Given the description of an element on the screen output the (x, y) to click on. 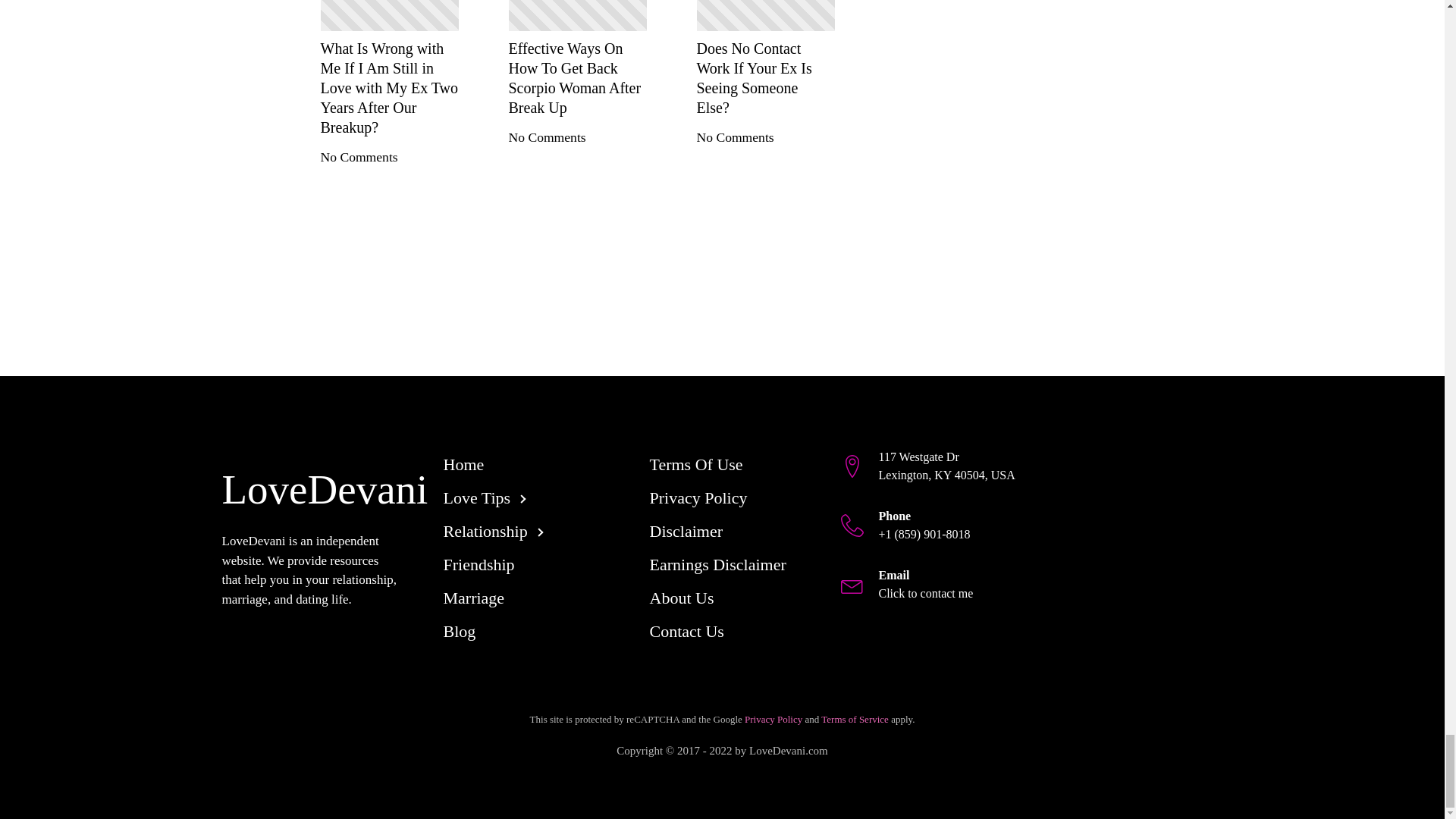
No Comments (546, 136)
No Comments (734, 136)
Does No Contact Work If Your Ex Is Seeing Someone Else? (764, 77)
No Comments (358, 156)
